Given the description of an element on the screen output the (x, y) to click on. 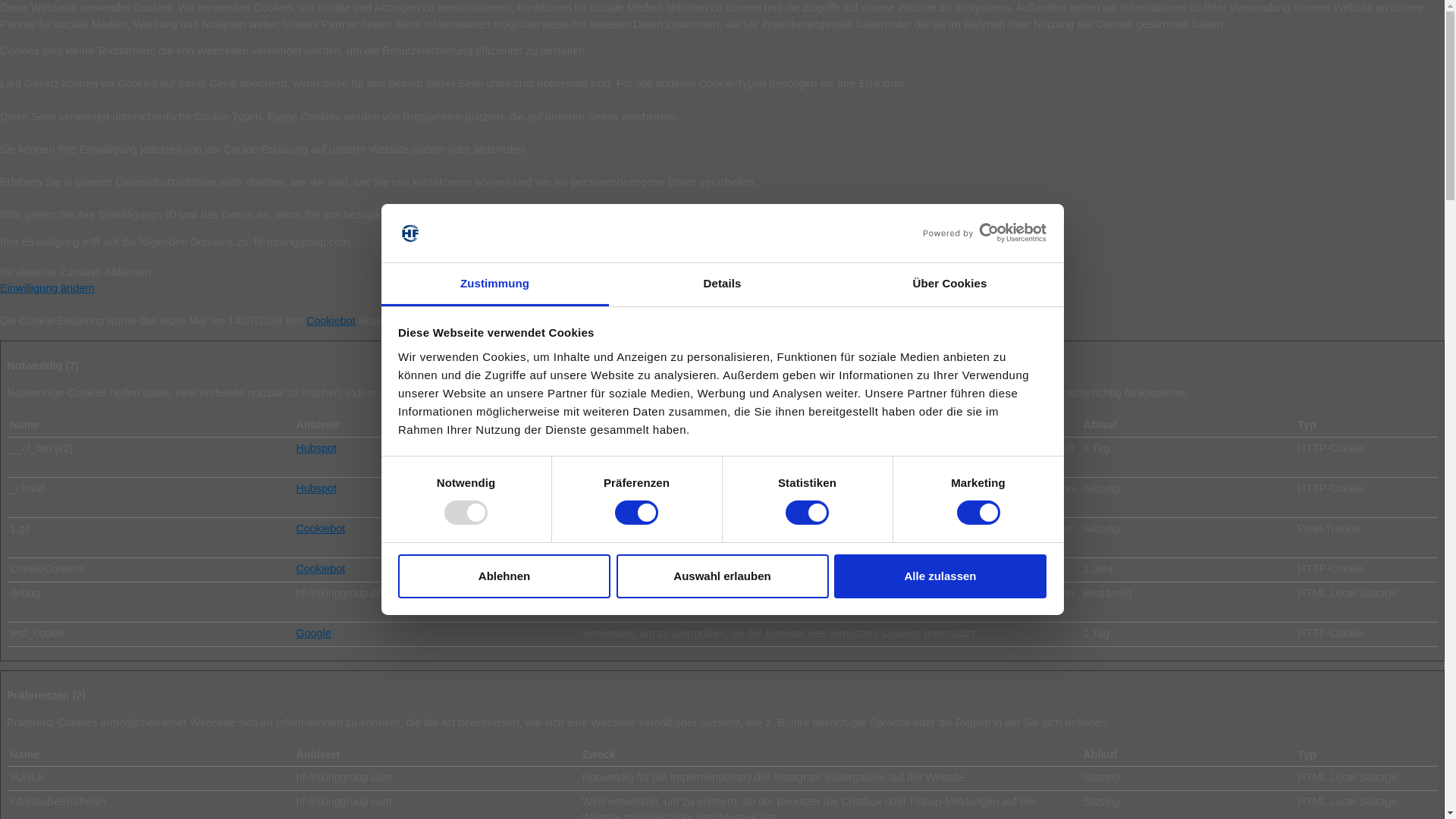
Hubspot (315, 448)
Cookiebot (320, 568)
Google (312, 633)
die Datenschutzrichtlinie von Cookiebot (320, 568)
Cookiebot (320, 528)
Hubspot (315, 488)
die Datenschutzrichtlinie von Cookiebot (320, 528)
die Datenschutzrichtlinie von Google (312, 633)
die Datenschutzrichtlinie von Hubspot (315, 488)
die Datenschutzrichtlinie von Hubspot (315, 448)
Cookiebot (330, 320)
Cookiebot (330, 320)
